Given the description of an element on the screen output the (x, y) to click on. 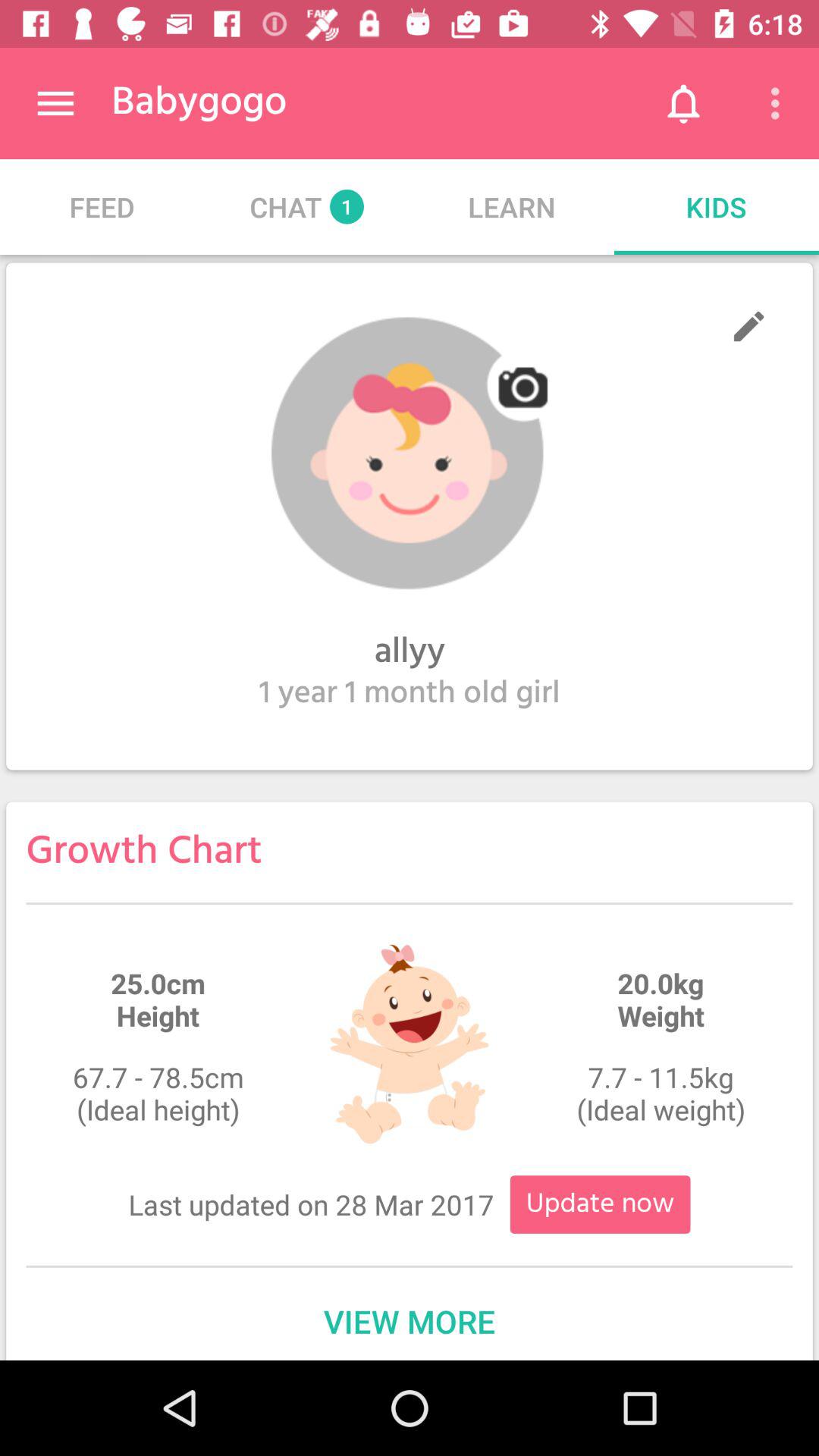
write the image (748, 326)
